Given the description of an element on the screen output the (x, y) to click on. 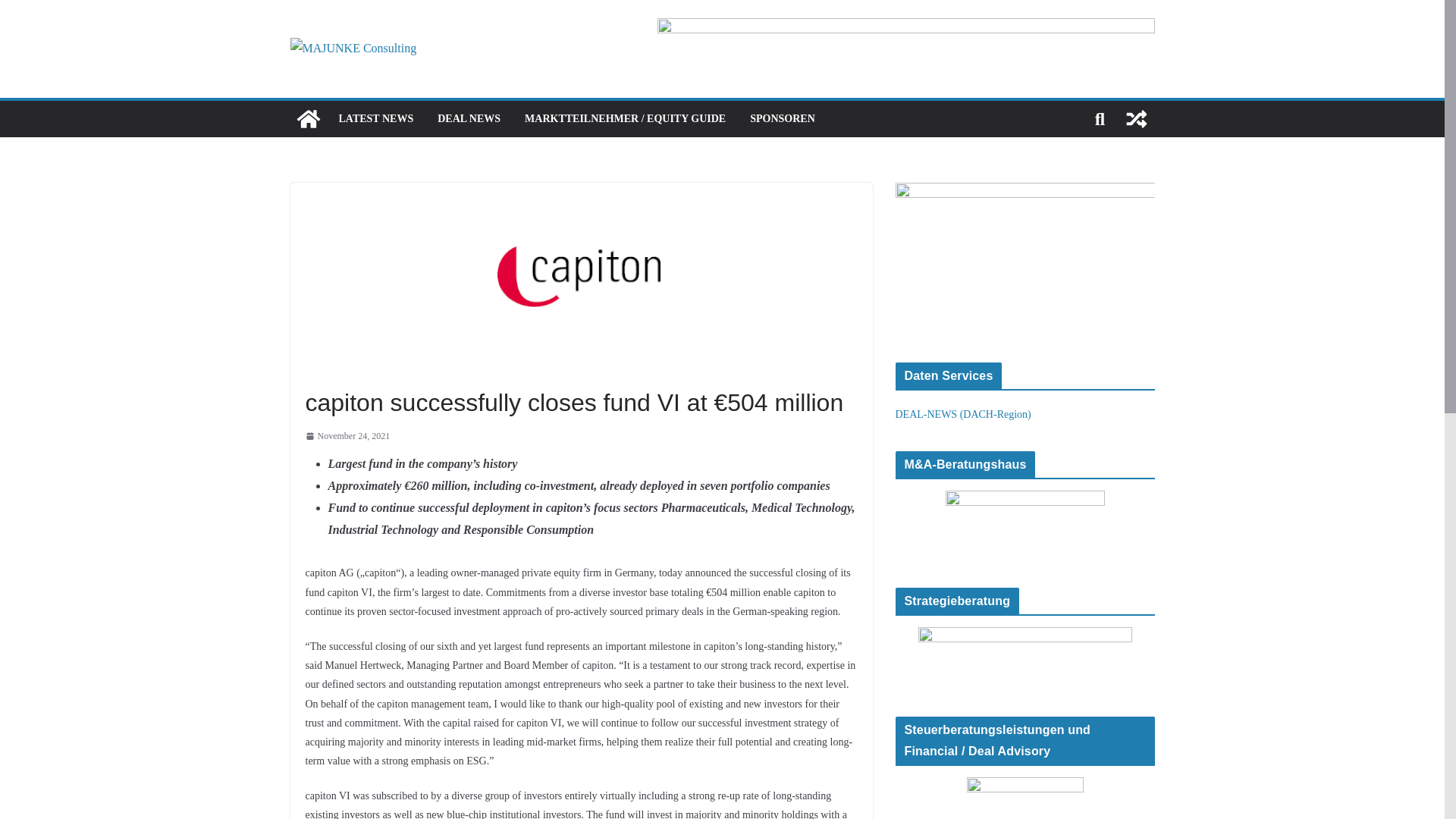
LATEST NEWS (375, 118)
SPONSOREN (782, 118)
DEAL NEWS (469, 118)
November 24, 2021 (347, 436)
4:17 pm (347, 436)
MAJUNKE Consulting (307, 118)
